Given the description of an element on the screen output the (x, y) to click on. 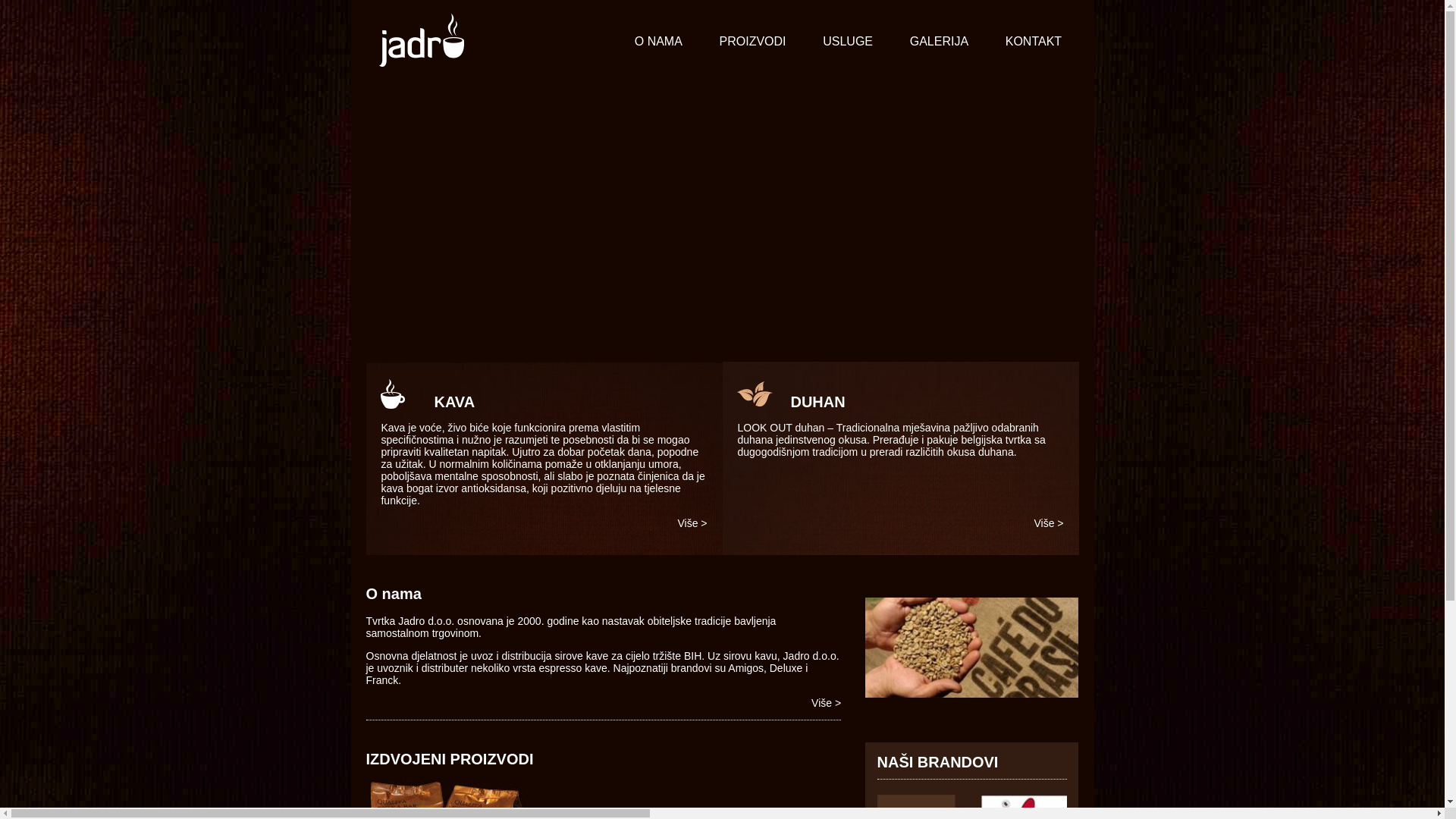
KONTAKT Element type: text (1033, 41)
O NAMA Element type: text (658, 41)
USLUGE Element type: text (848, 41)
GALERIJA Element type: text (938, 41)
PROIZVODI Element type: text (752, 41)
